Given the description of an element on the screen output the (x, y) to click on. 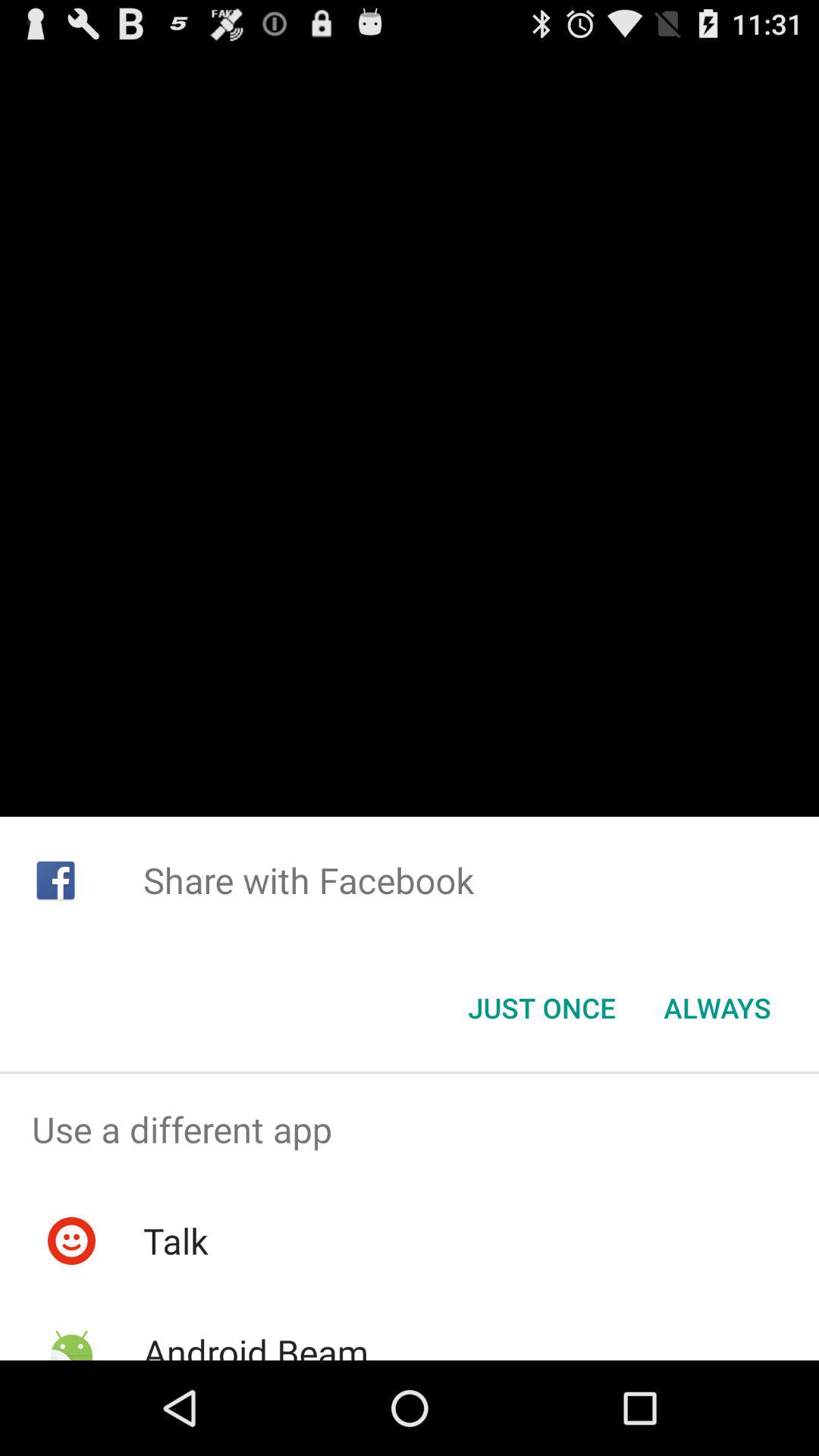
turn on the icon below use a different item (175, 1240)
